Given the description of an element on the screen output the (x, y) to click on. 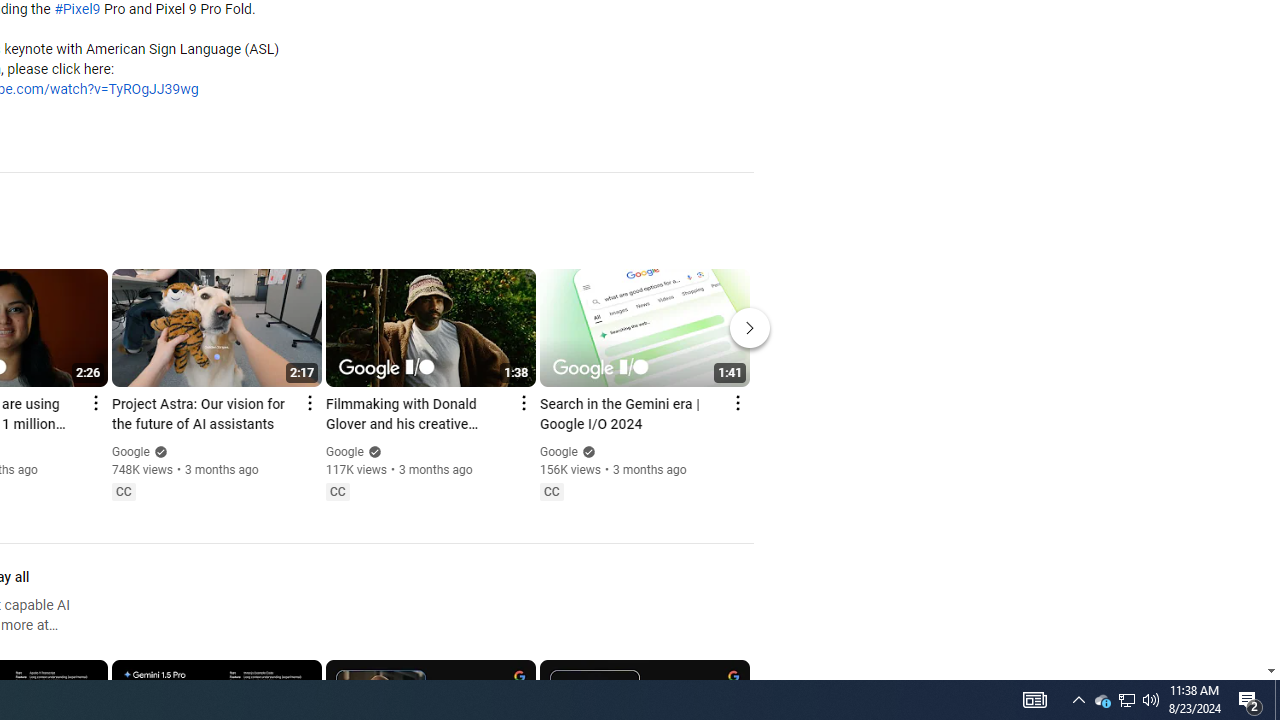
#Pixel9 (77, 10)
Closed captions (551, 492)
Verified (586, 451)
